Given the description of an element on the screen output the (x, y) to click on. 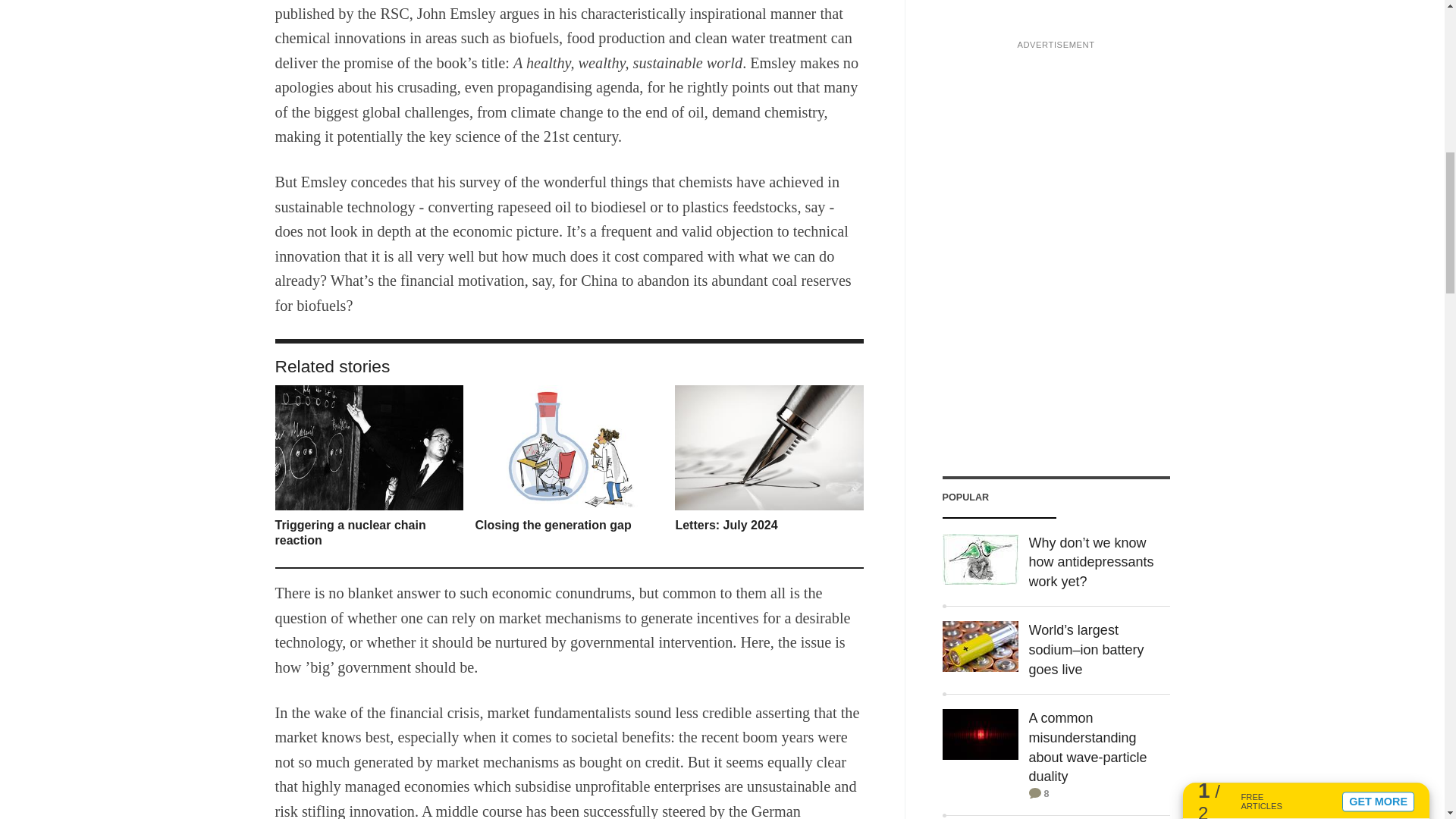
3rd party ad content (1055, 16)
